Given the description of an element on the screen output the (x, y) to click on. 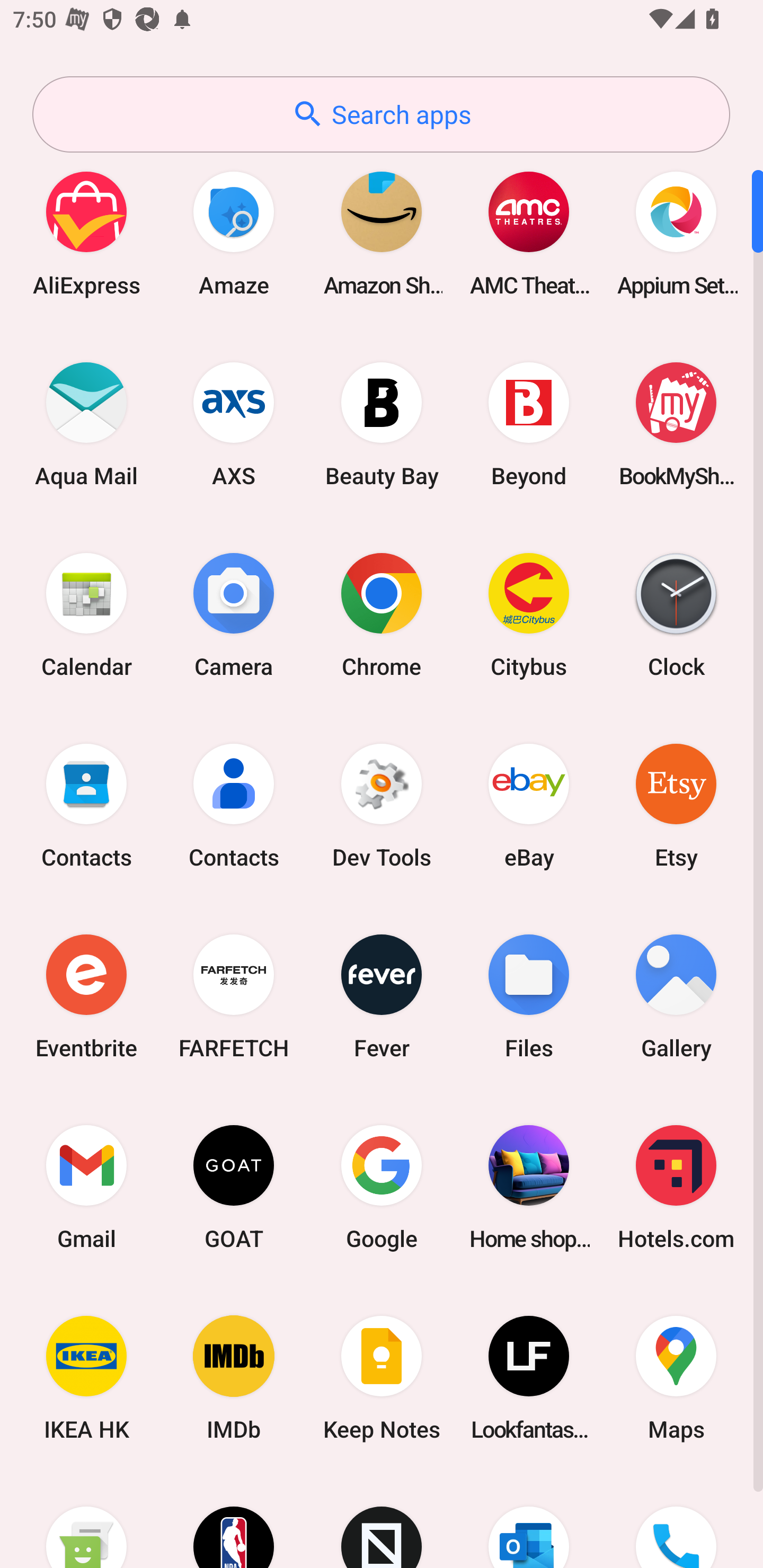
  Search apps (381, 114)
AliExpress (86, 233)
Amaze (233, 233)
Amazon Shopping (381, 233)
AMC Theatres (528, 233)
Appium Settings (676, 233)
Aqua Mail (86, 424)
AXS (233, 424)
Beauty Bay (381, 424)
Beyond (528, 424)
BookMyShow (676, 424)
Calendar (86, 614)
Camera (233, 614)
Chrome (381, 614)
Citybus (528, 614)
Clock (676, 614)
Contacts (86, 805)
Contacts (233, 805)
Dev Tools (381, 805)
eBay (528, 805)
Etsy (676, 805)
Eventbrite (86, 996)
FARFETCH (233, 996)
Fever (381, 996)
Files (528, 996)
Gallery (676, 996)
Gmail (86, 1186)
GOAT (233, 1186)
Google (381, 1186)
Home shopping (528, 1186)
Hotels.com (676, 1186)
IKEA HK (86, 1377)
IMDb (233, 1377)
Keep Notes (381, 1377)
Lookfantastic (528, 1377)
Maps (676, 1377)
